Given the description of an element on the screen output the (x, y) to click on. 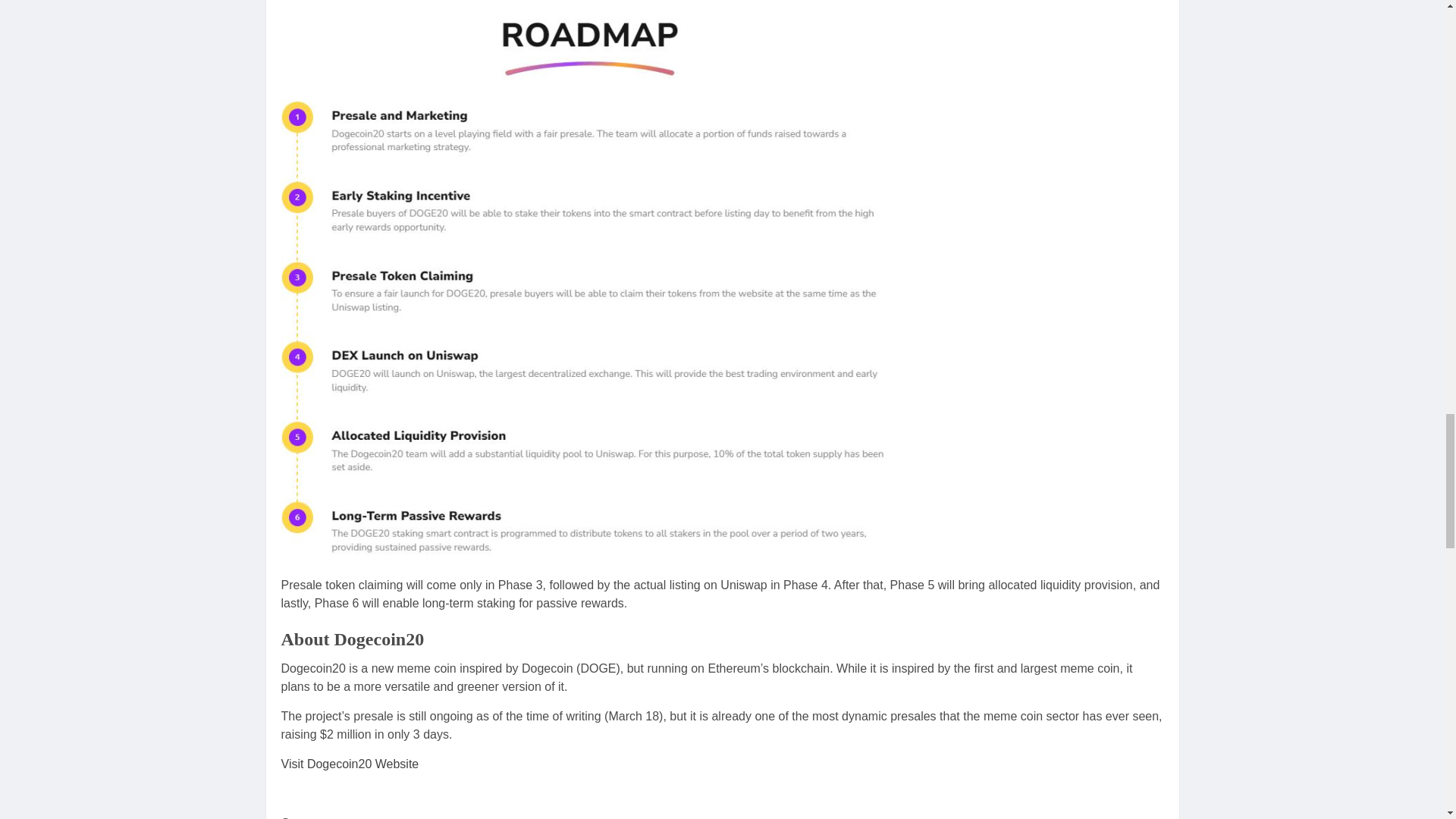
Visit Dogecoin20 Website (350, 763)
